Given the description of an element on the screen output the (x, y) to click on. 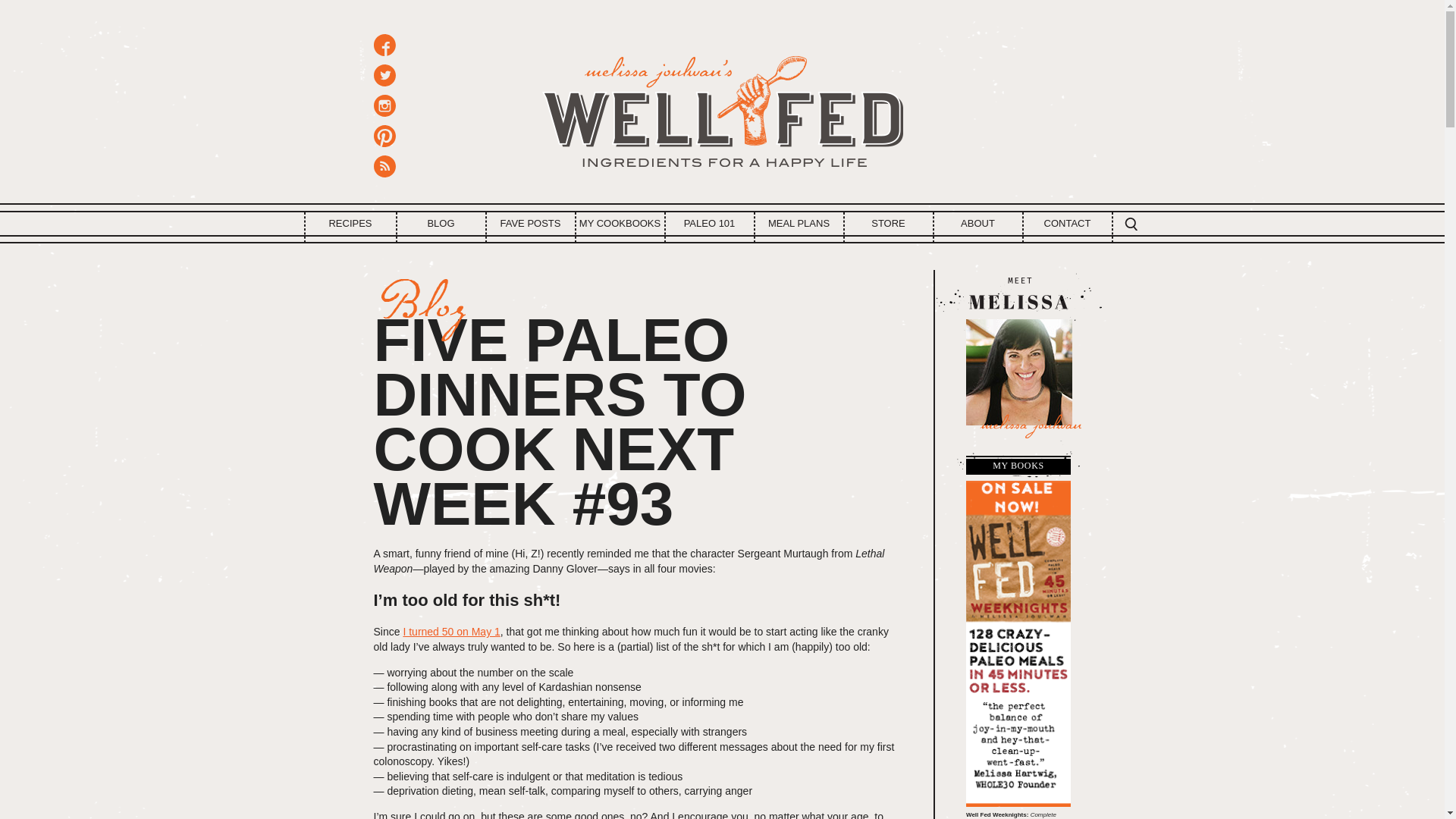
Melissa Joulwan's Well Fed - Ingredients for a Happy Life (721, 106)
CONTACT (1067, 223)
PALEO 101 (709, 223)
I turned 50 on May 1 (451, 631)
ABOUT (978, 223)
MEAL PLANS (799, 223)
BLOG (440, 223)
RECIPES (349, 223)
FAVE POSTS (530, 223)
MY COOKBOOKS (619, 223)
STORE (888, 223)
